Given the description of an element on the screen output the (x, y) to click on. 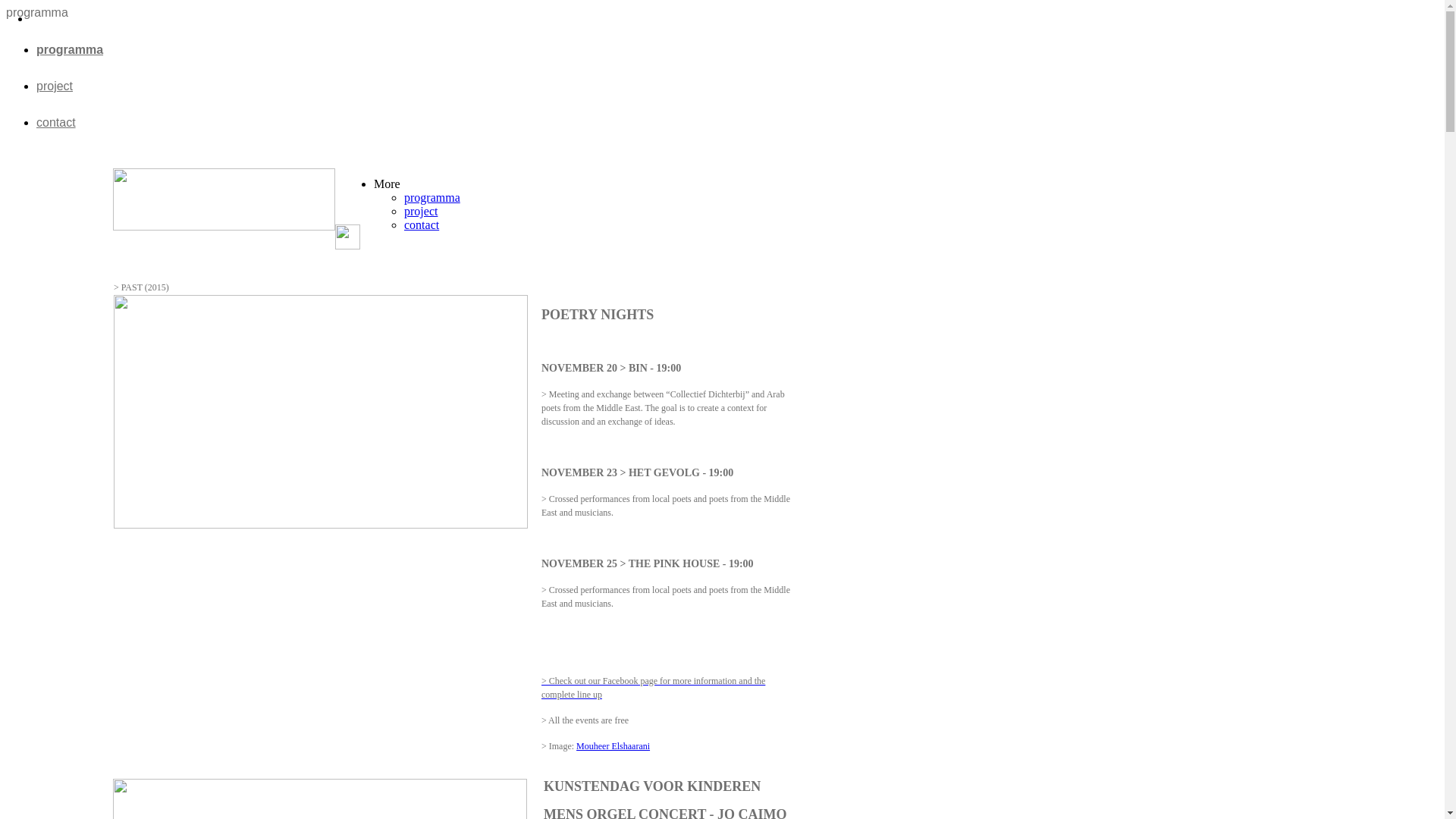
programma Element type: text (69, 49)
Mouheer Elshaarani Element type: text (612, 745)
contact Element type: text (421, 224)
programma Element type: text (432, 197)
> inschrijven nieuwsbrief Element type: text (714, 267)
contact Element type: text (55, 122)
project Element type: text (420, 210)
project Element type: text (54, 85)
More Element type: text (386, 183)
